Given the description of an element on the screen output the (x, y) to click on. 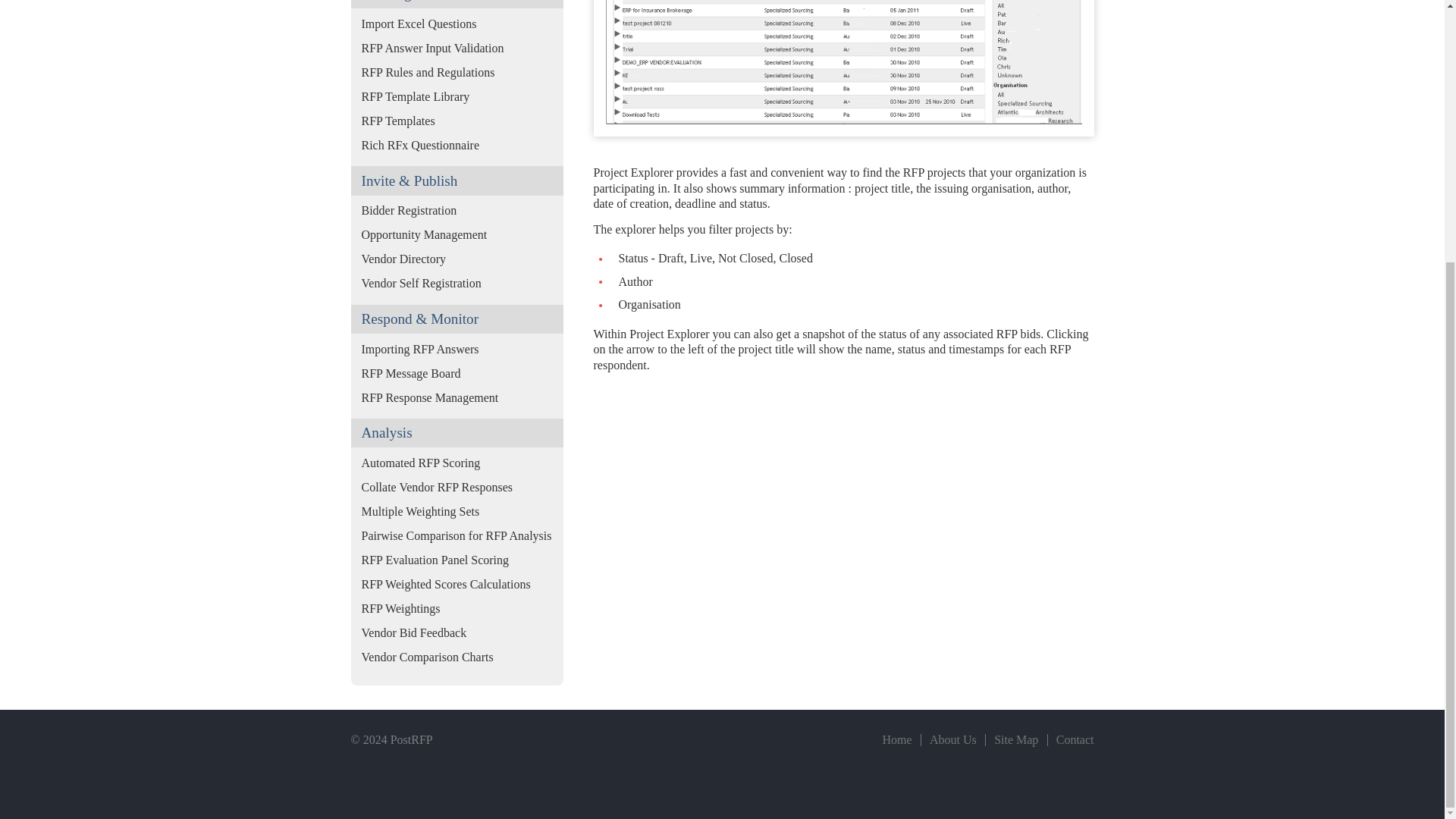
RFP Weighted Scores Calculations (456, 584)
Vendor Self Registration (456, 283)
RFP Templates (456, 120)
RFP Answer Input Validation (456, 48)
RFP Evaluation Panel Scoring (456, 559)
Home (897, 739)
RFP Rules and Regulations (456, 72)
RFP Response Management (456, 397)
RFP Message Board (456, 373)
Vendor Bid Feedback (456, 632)
